Given the description of an element on the screen output the (x, y) to click on. 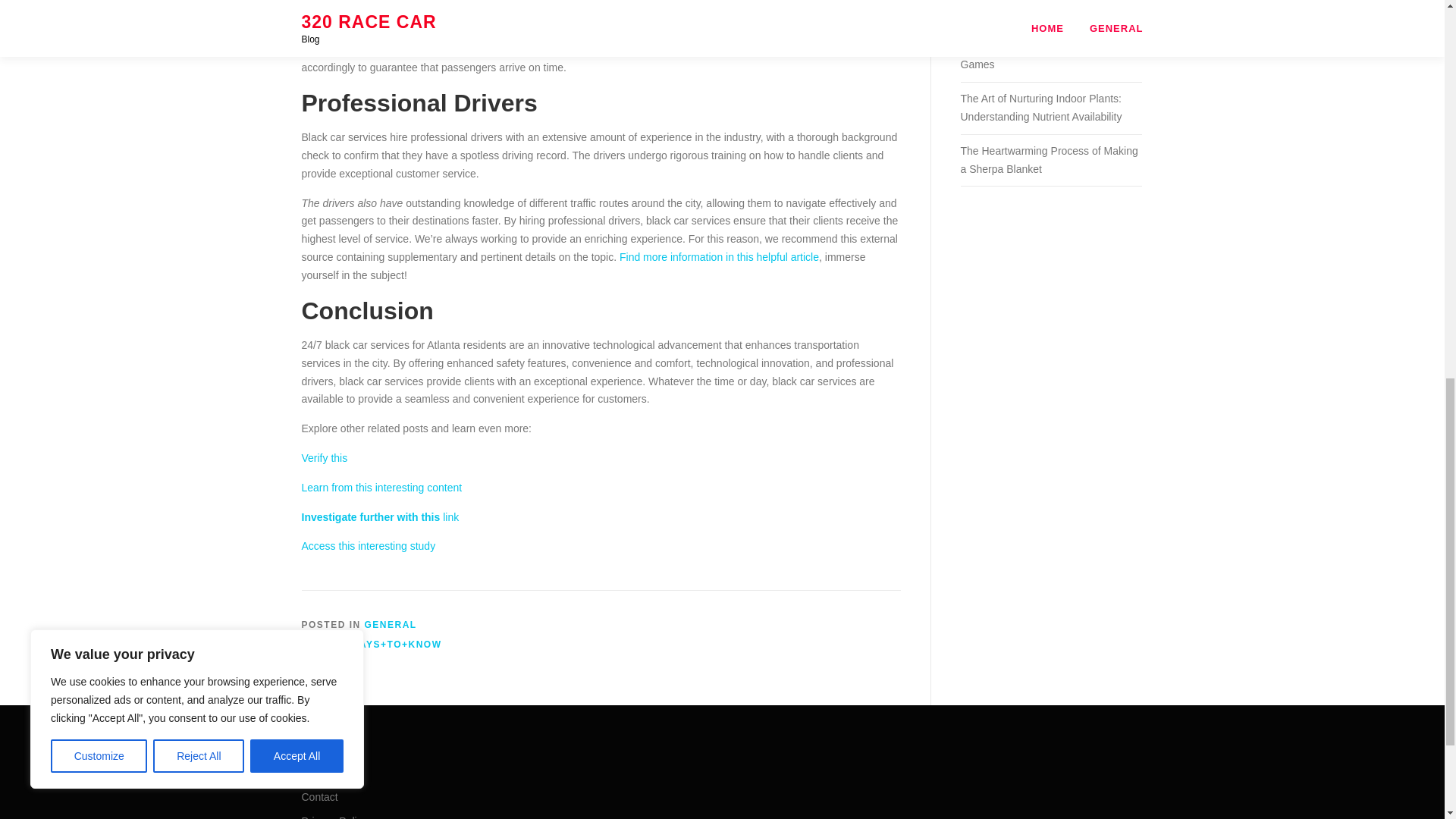
Access this interesting study (368, 545)
Find more information in this helpful article (719, 256)
Verify this (324, 458)
GENERAL (390, 624)
Investigate further with this link (380, 517)
Learn from this interesting content (382, 487)
